Given the description of an element on the screen output the (x, y) to click on. 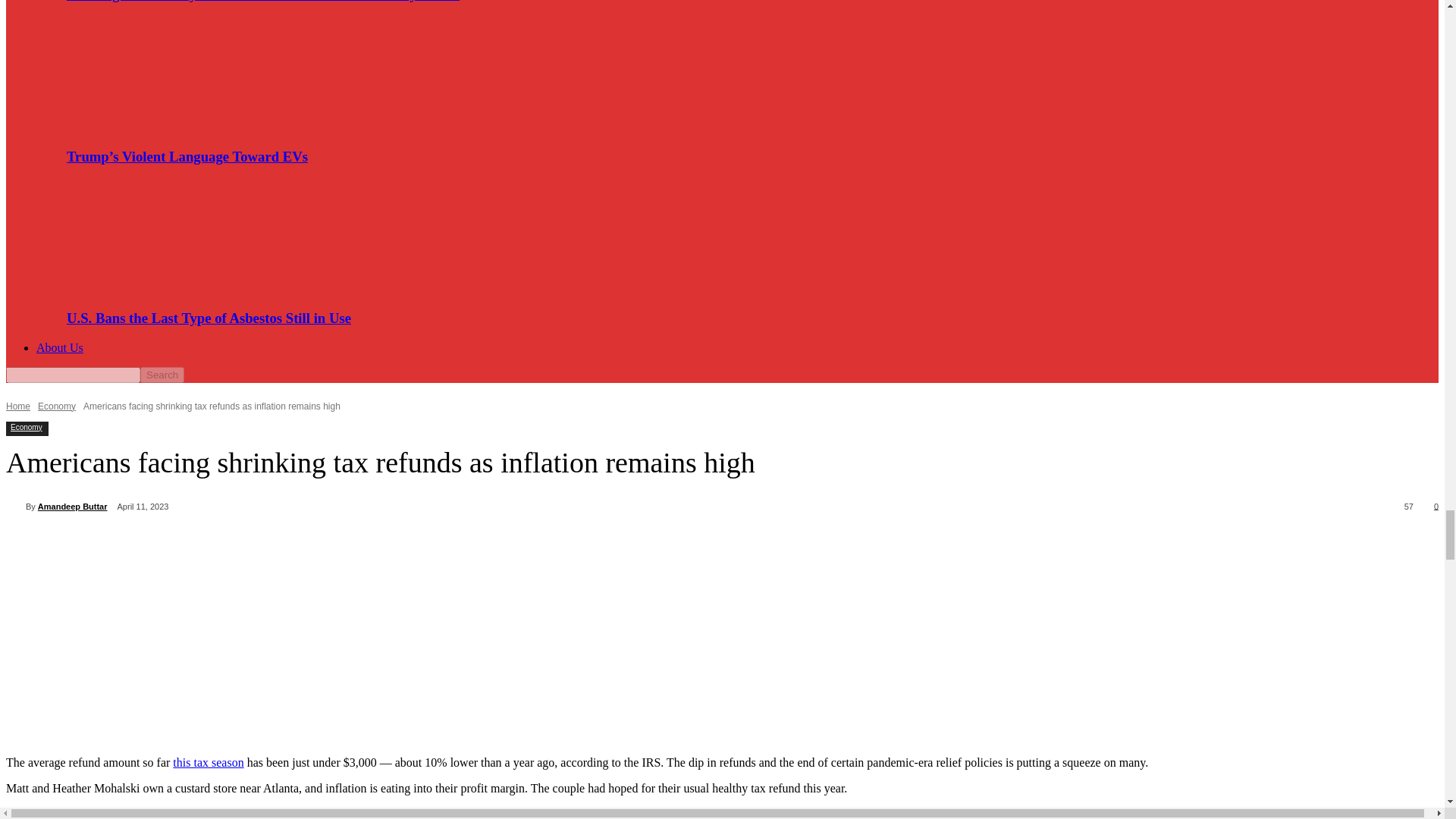
Search (161, 374)
